Given the description of an element on the screen output the (x, y) to click on. 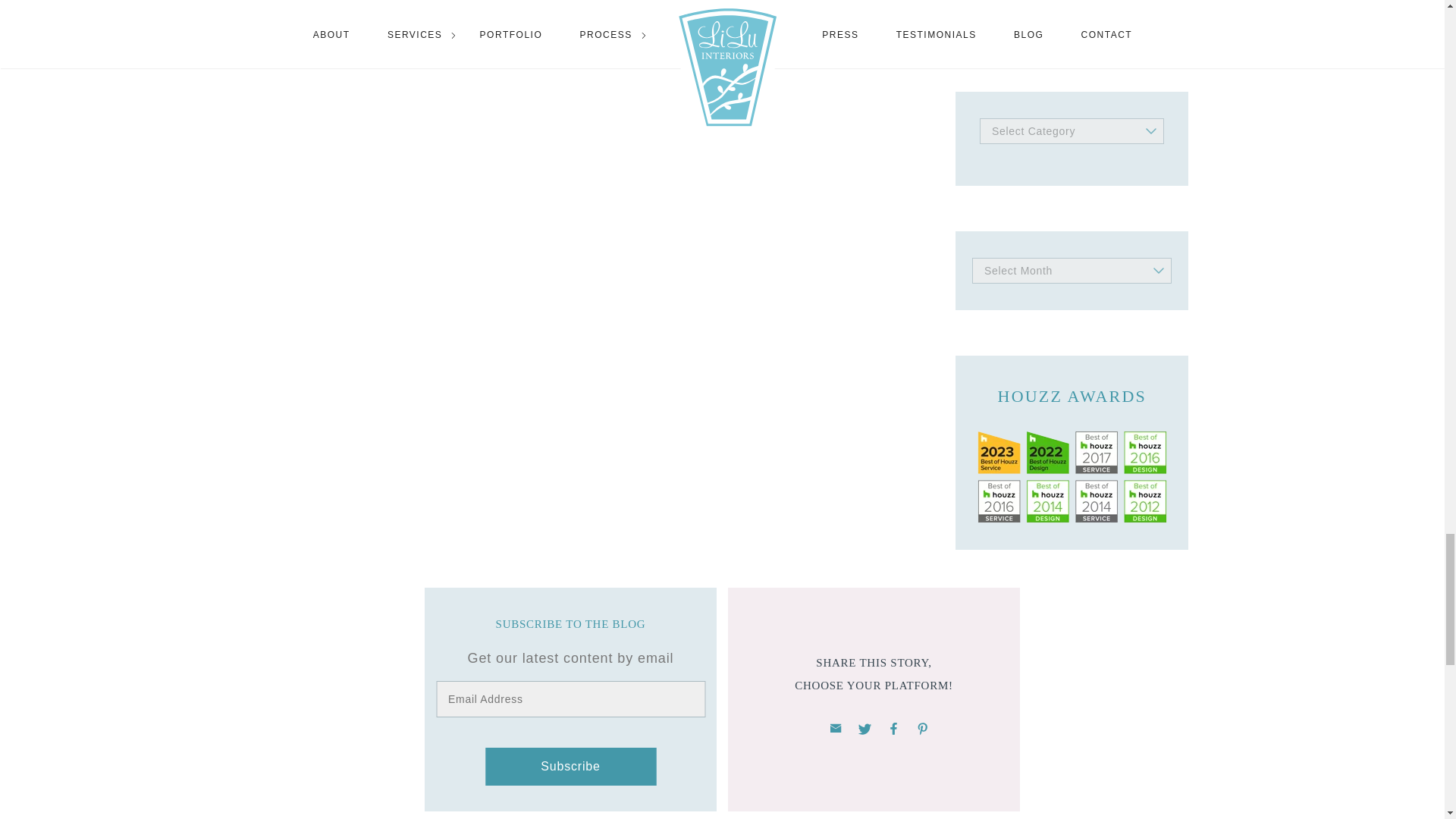
Go (1150, 2)
Subscribe (570, 766)
